Given the description of an element on the screen output the (x, y) to click on. 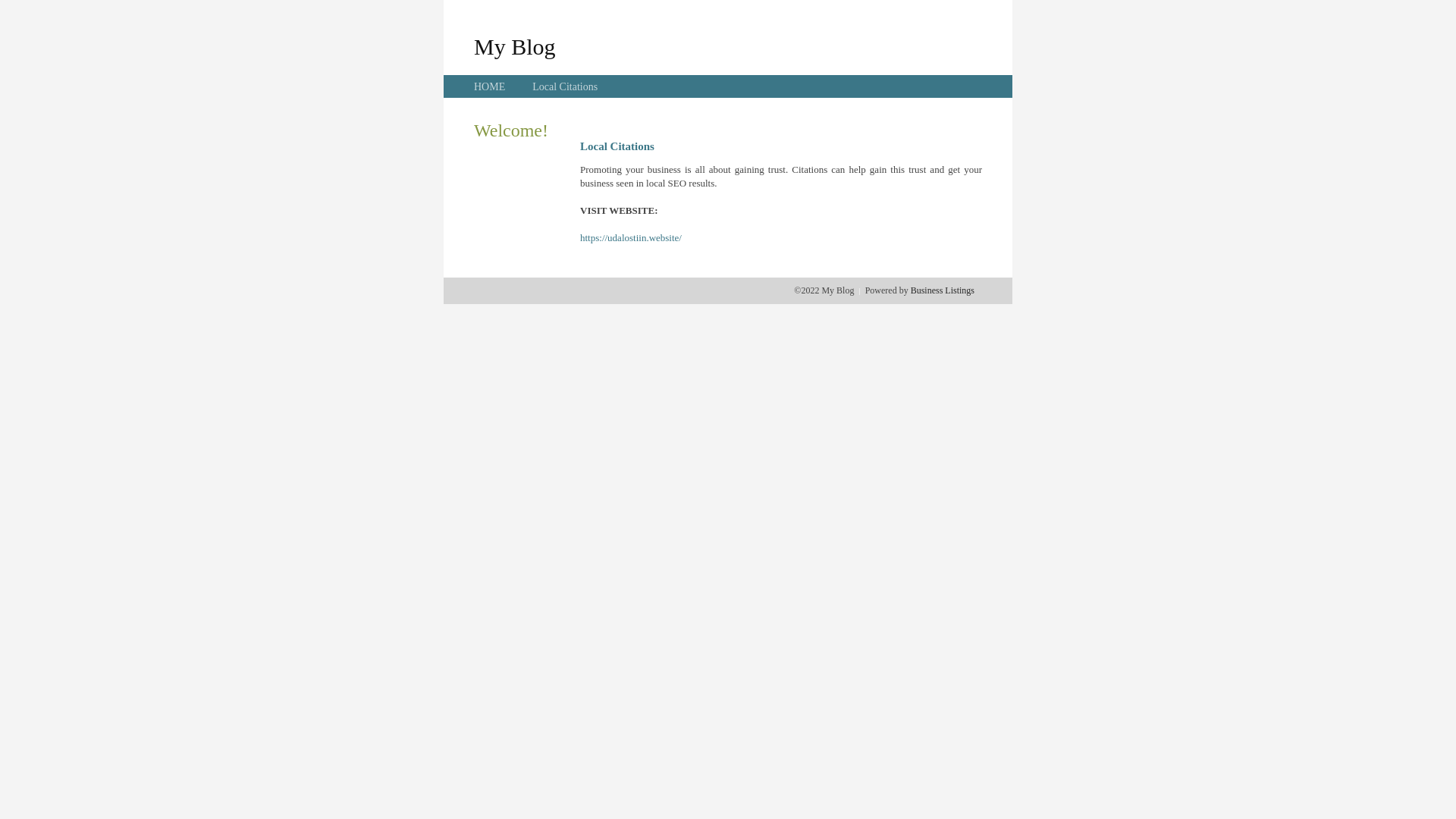
Local Citations Element type: text (564, 86)
https://udalostiin.website/ Element type: text (630, 237)
Business Listings Element type: text (942, 290)
HOME Element type: text (489, 86)
My Blog Element type: text (514, 46)
